Given the description of an element on the screen output the (x, y) to click on. 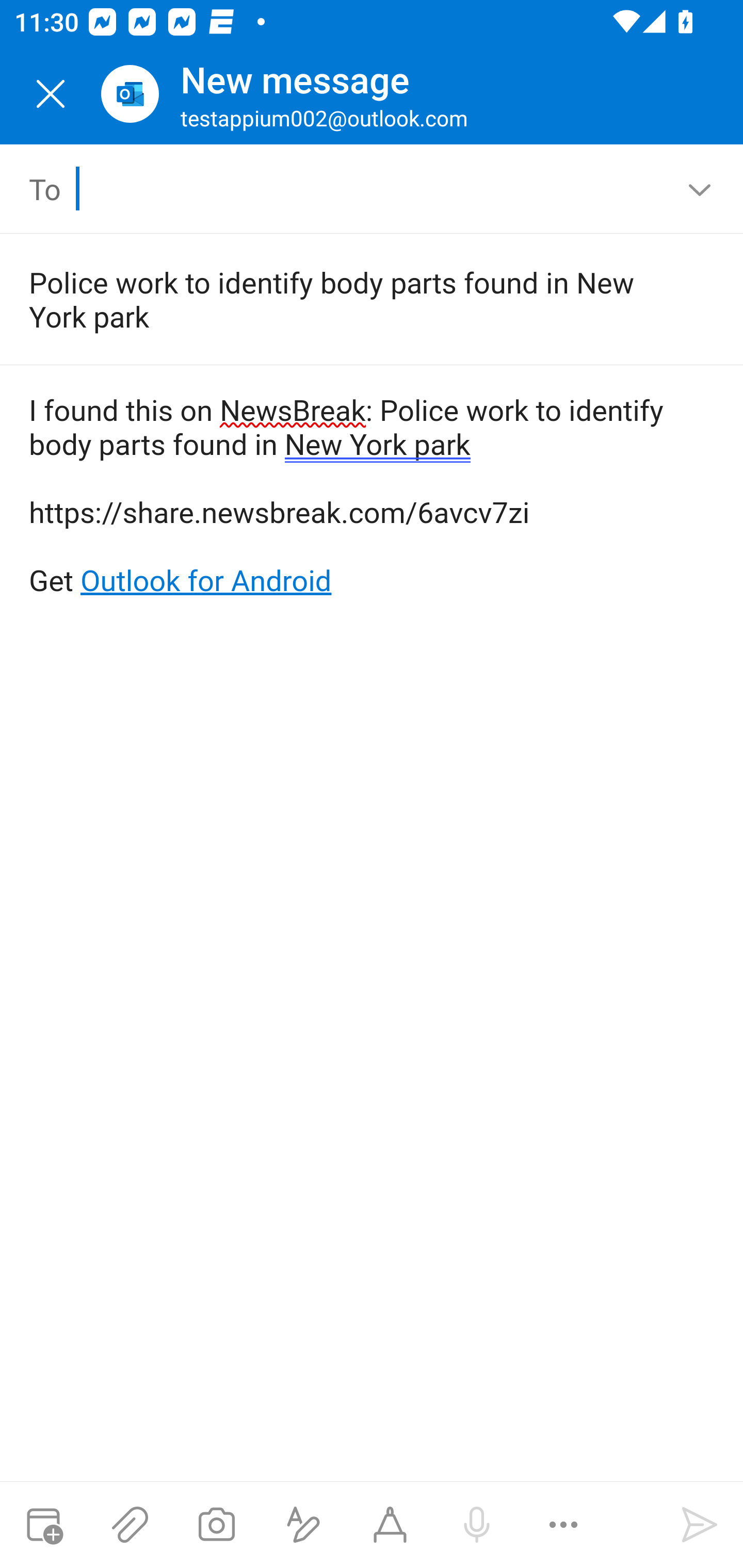
Close (50, 93)
Attach meeting (43, 1524)
Attach files (129, 1524)
Take a photo (216, 1524)
Show formatting options (303, 1524)
Start Ink compose (389, 1524)
More options (563, 1524)
Send (699, 1524)
